Given the description of an element on the screen output the (x, y) to click on. 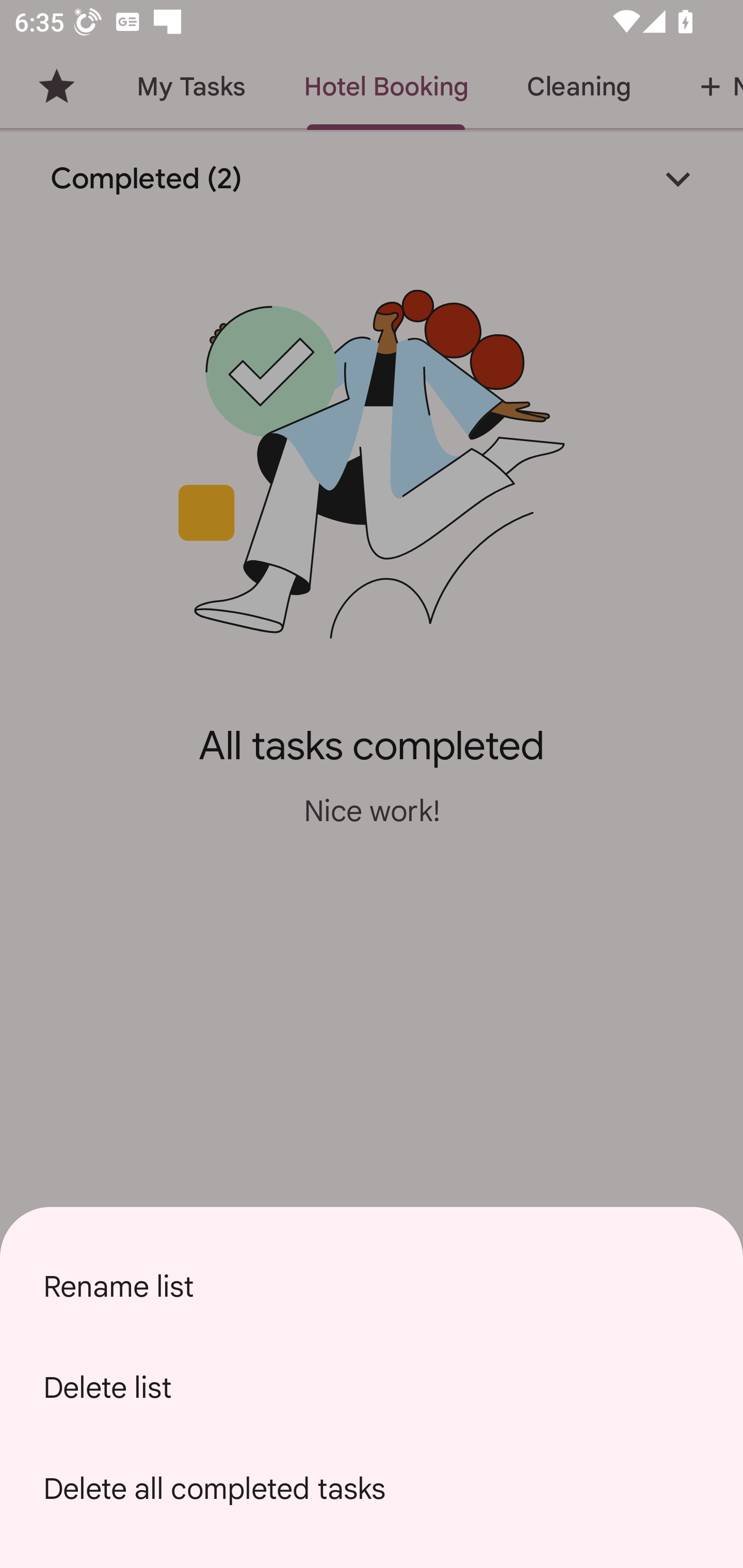
Rename list (371, 1286)
Delete list (371, 1387)
Delete all completed tasks (371, 1488)
